Given the description of an element on the screen output the (x, y) to click on. 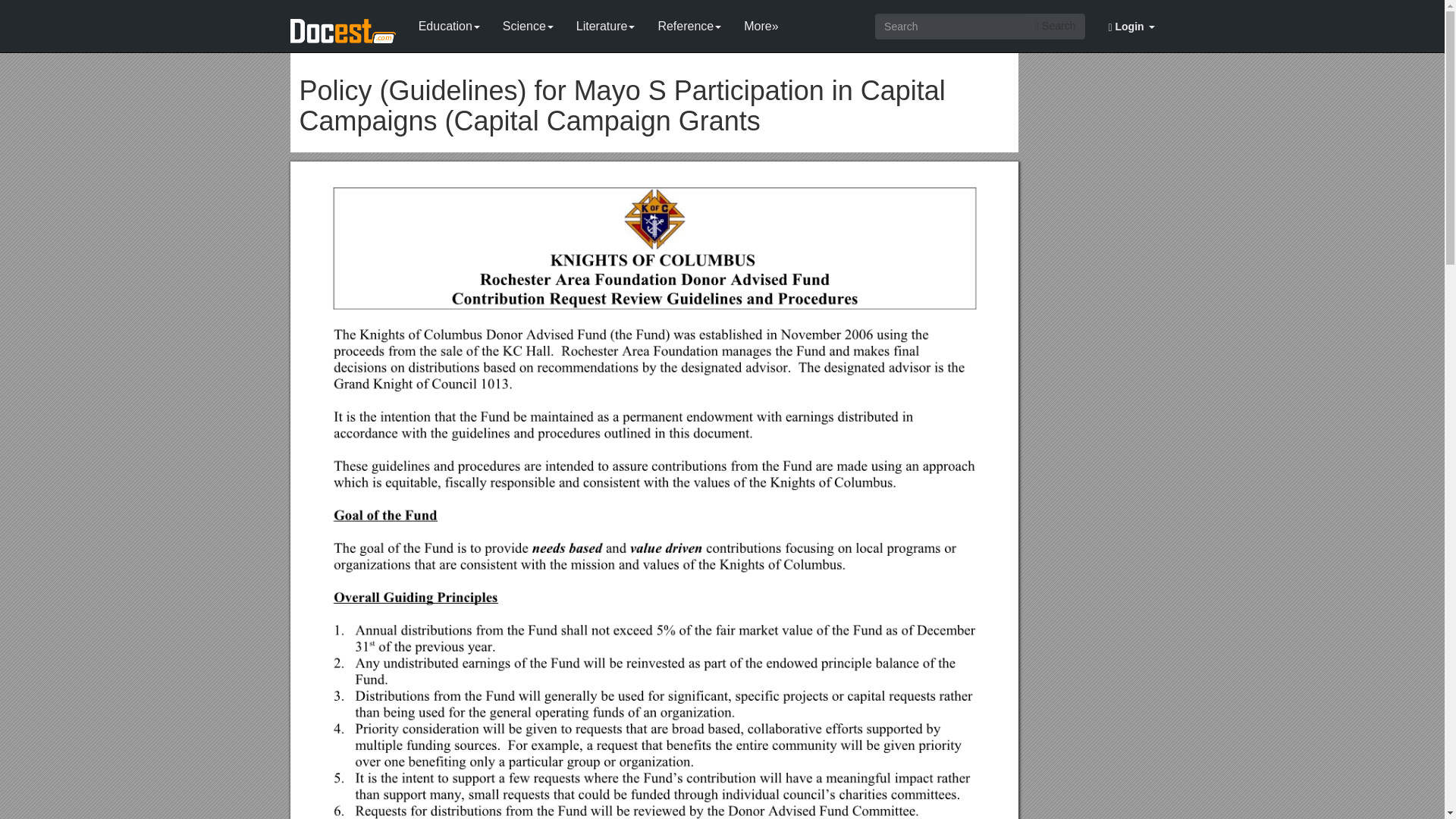
Education (449, 22)
Literature (605, 22)
Reference (689, 22)
Science (528, 22)
